Given the description of an element on the screen output the (x, y) to click on. 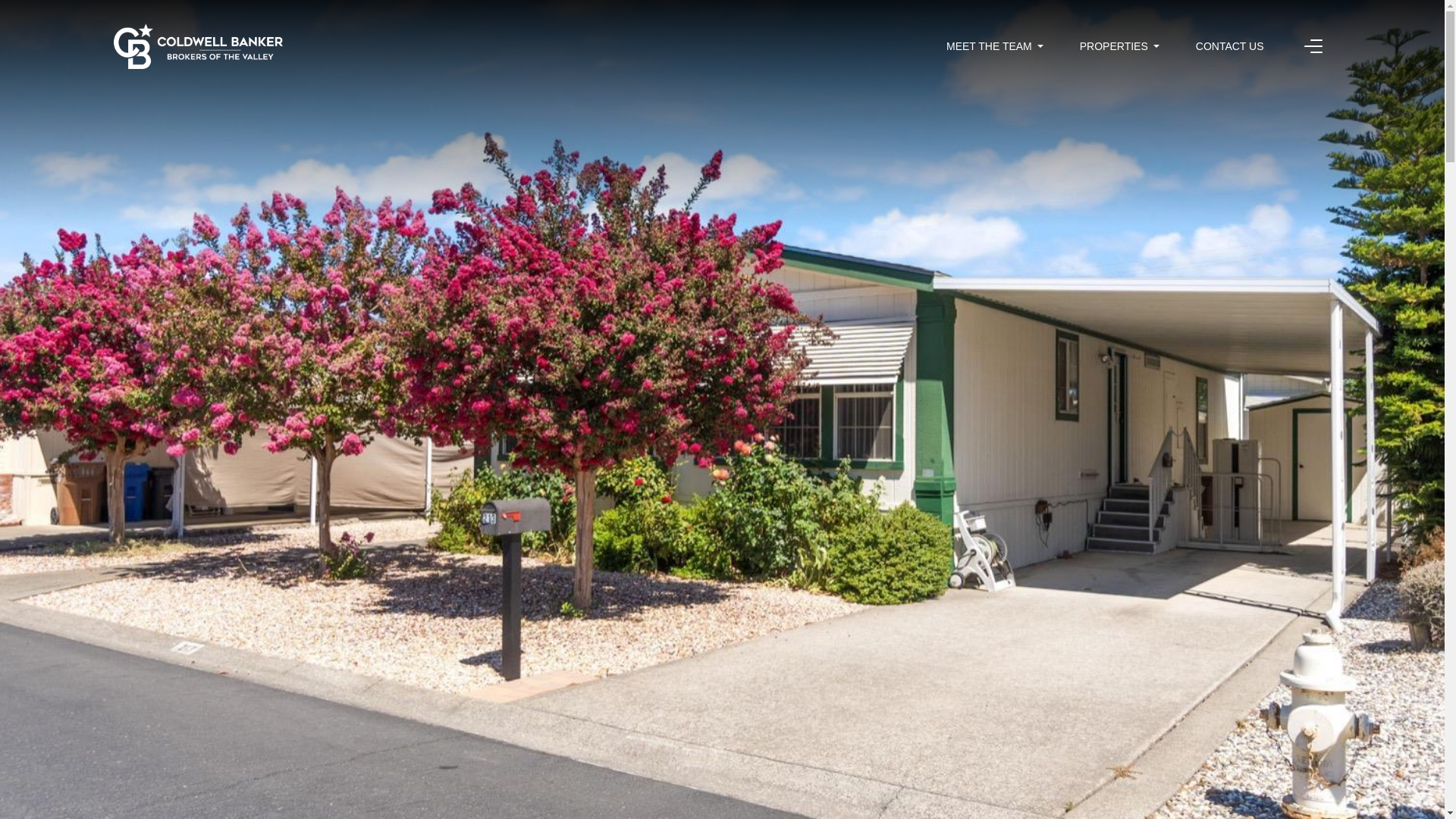
MEET THE TEAM (994, 46)
PROPERTIES (1119, 46)
CONTACT US (1229, 46)
